Given the description of an element on the screen output the (x, y) to click on. 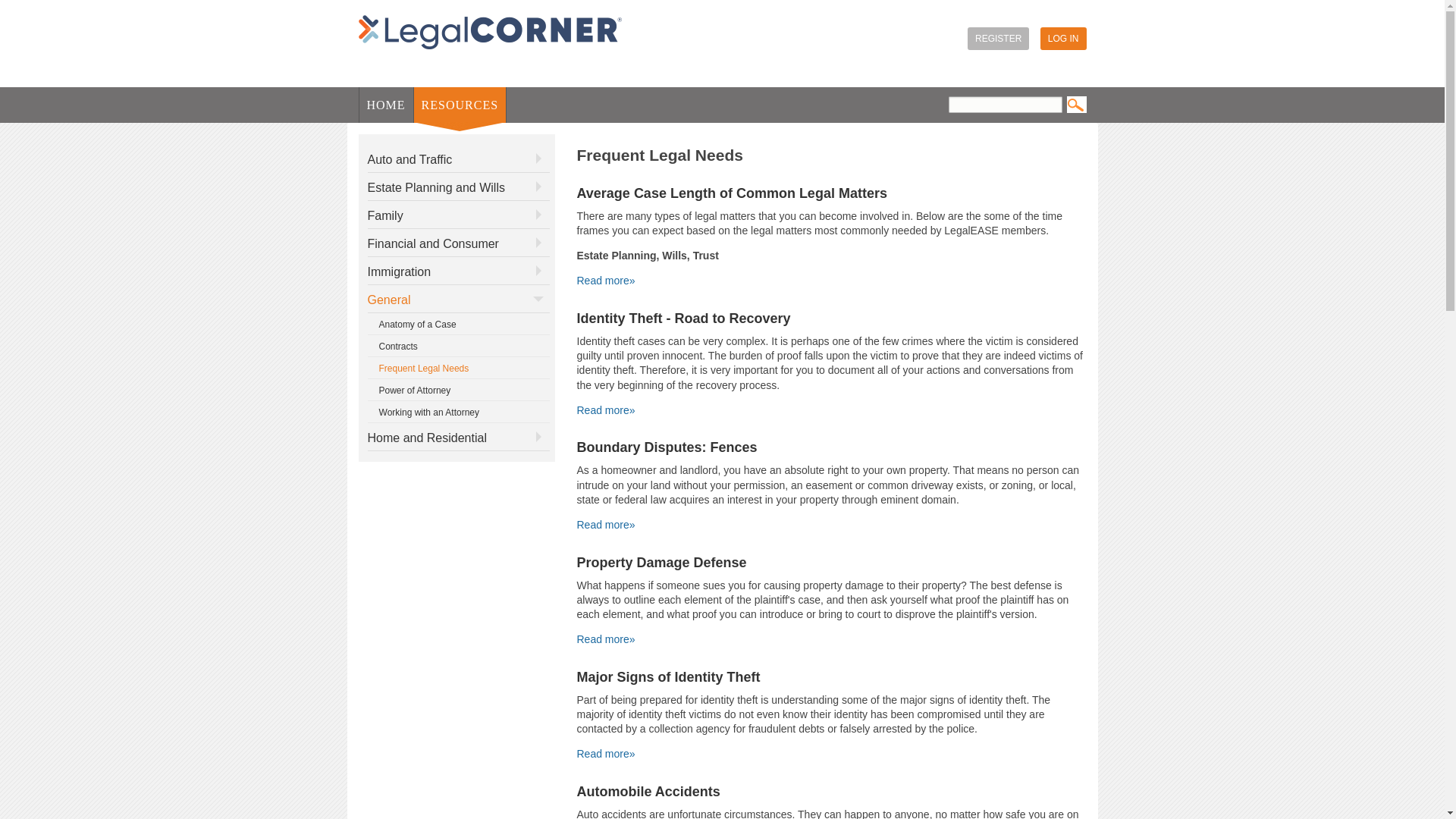
Search (1075, 104)
HOME (386, 104)
LOG IN (1063, 38)
Enter the terms you wish to search for. (1004, 104)
Search (1075, 104)
REGISTER (998, 38)
